Given the description of an element on the screen output the (x, y) to click on. 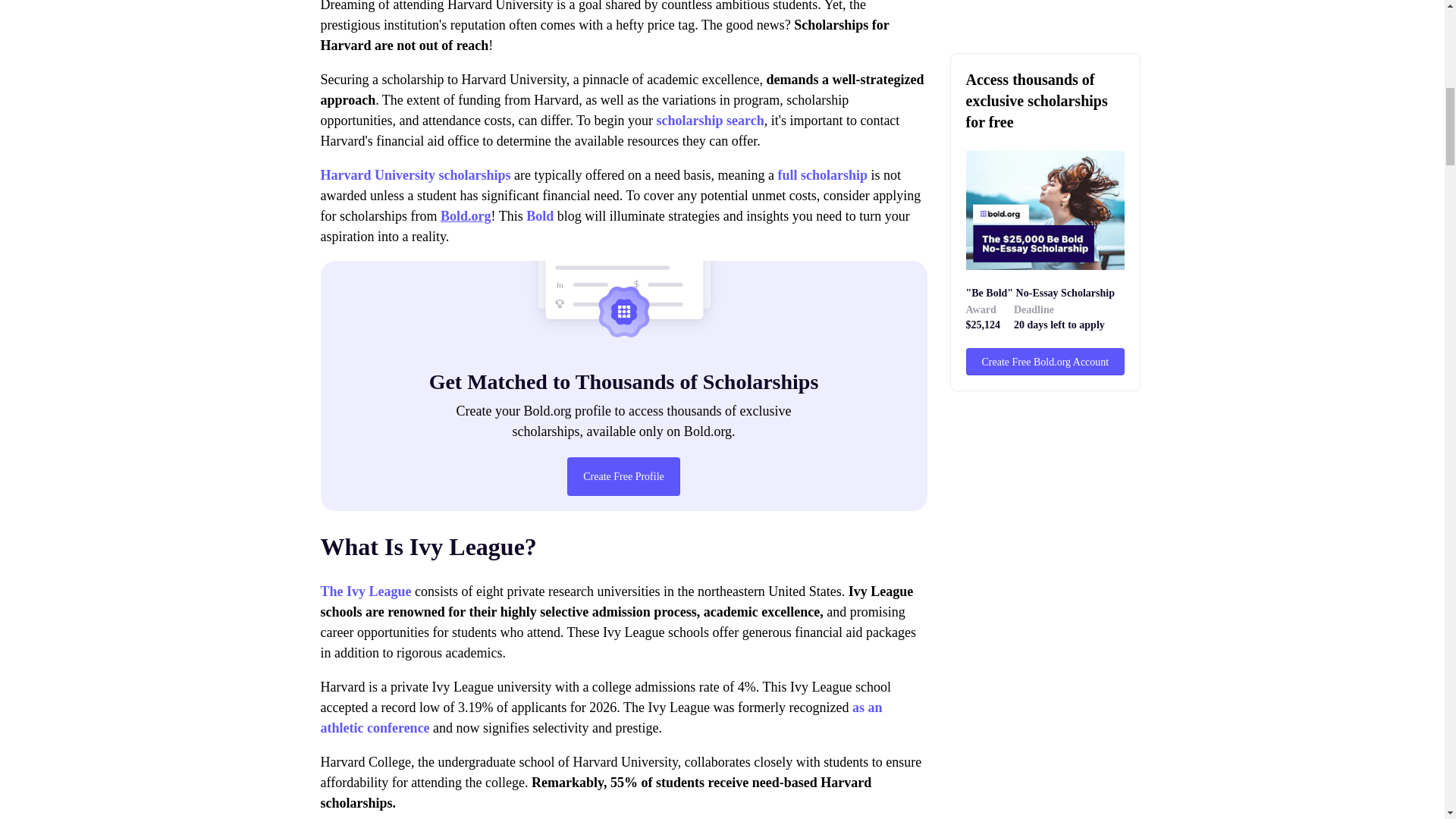
full scholarship (822, 174)
Bold (539, 215)
Create Free Profile (623, 476)
The Ivy League (365, 590)
Bold.org (466, 215)
Harvard University scholarships (415, 174)
scholarship search (709, 120)
